Given the description of an element on the screen output the (x, y) to click on. 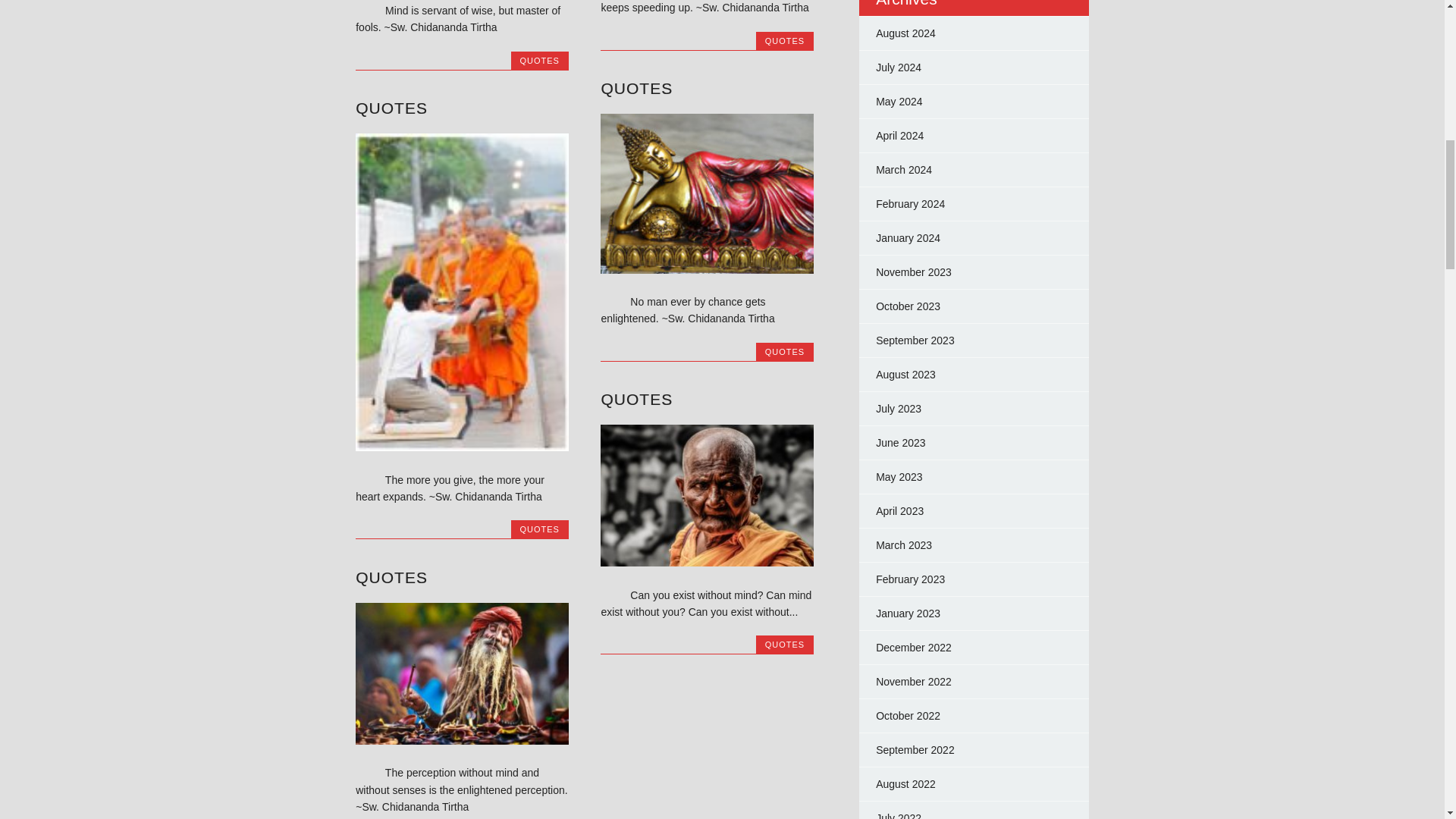
QUOTES (785, 351)
Quotes (706, 269)
Permalink to Quotes (391, 108)
QUOTES (391, 108)
QUOTES (785, 40)
QUOTES (539, 60)
QUOTES (539, 528)
Quotes (462, 447)
QUOTES (785, 644)
QUOTES (635, 398)
